Given the description of an element on the screen output the (x, y) to click on. 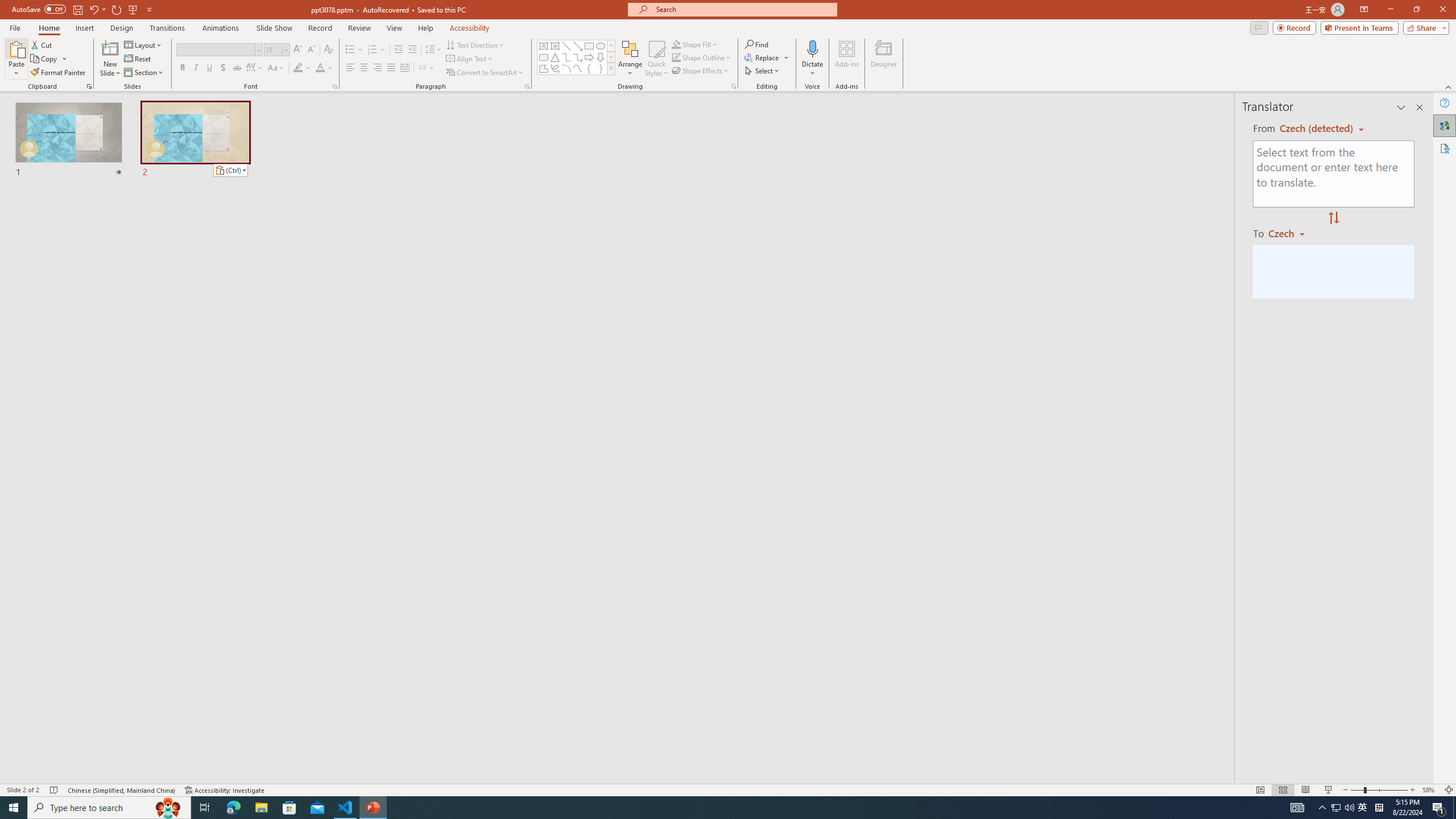
Czech (detected) (1317, 128)
